Given the description of an element on the screen output the (x, y) to click on. 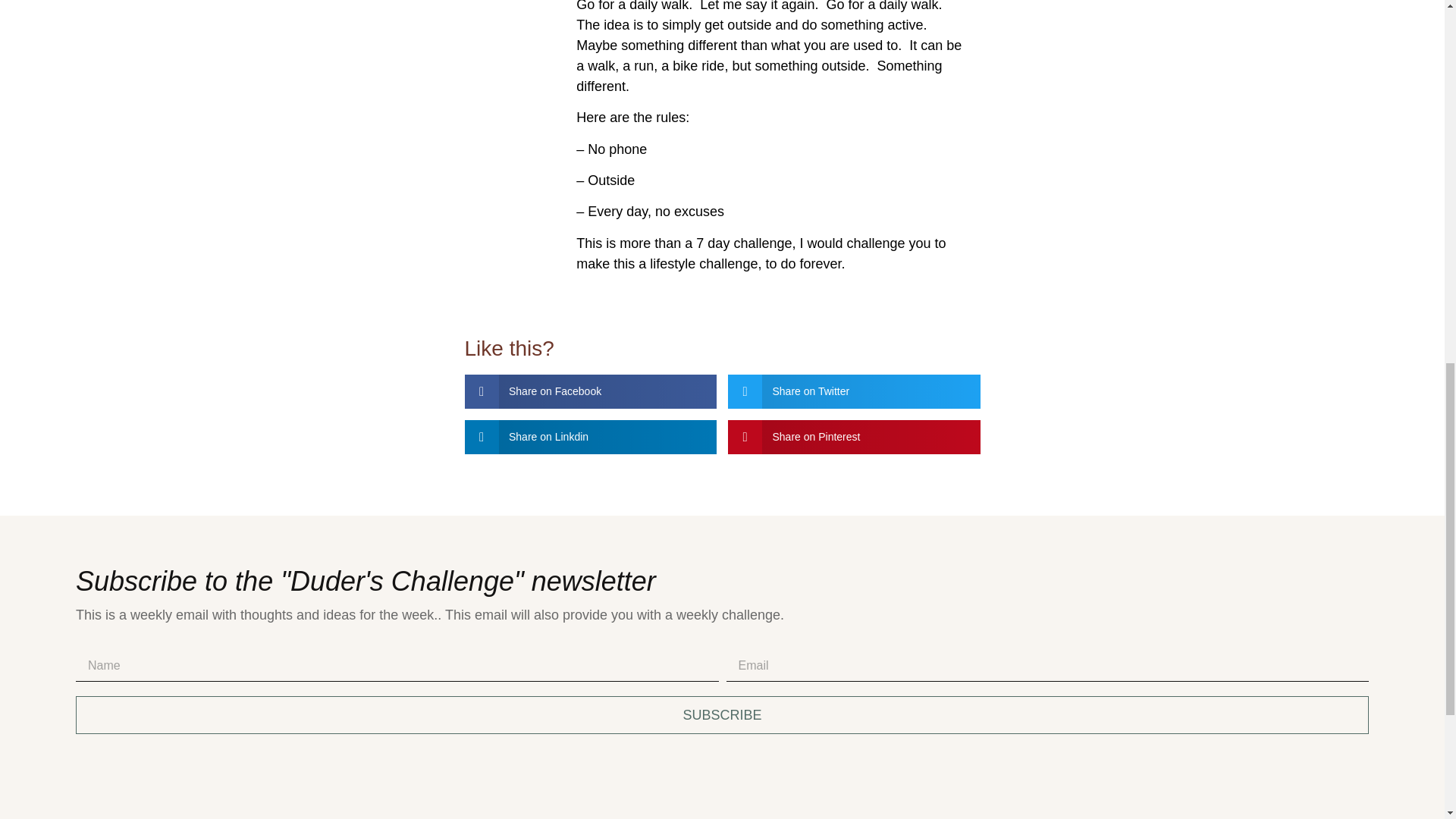
SUBSCRIBE (721, 714)
